Given the description of an element on the screen output the (x, y) to click on. 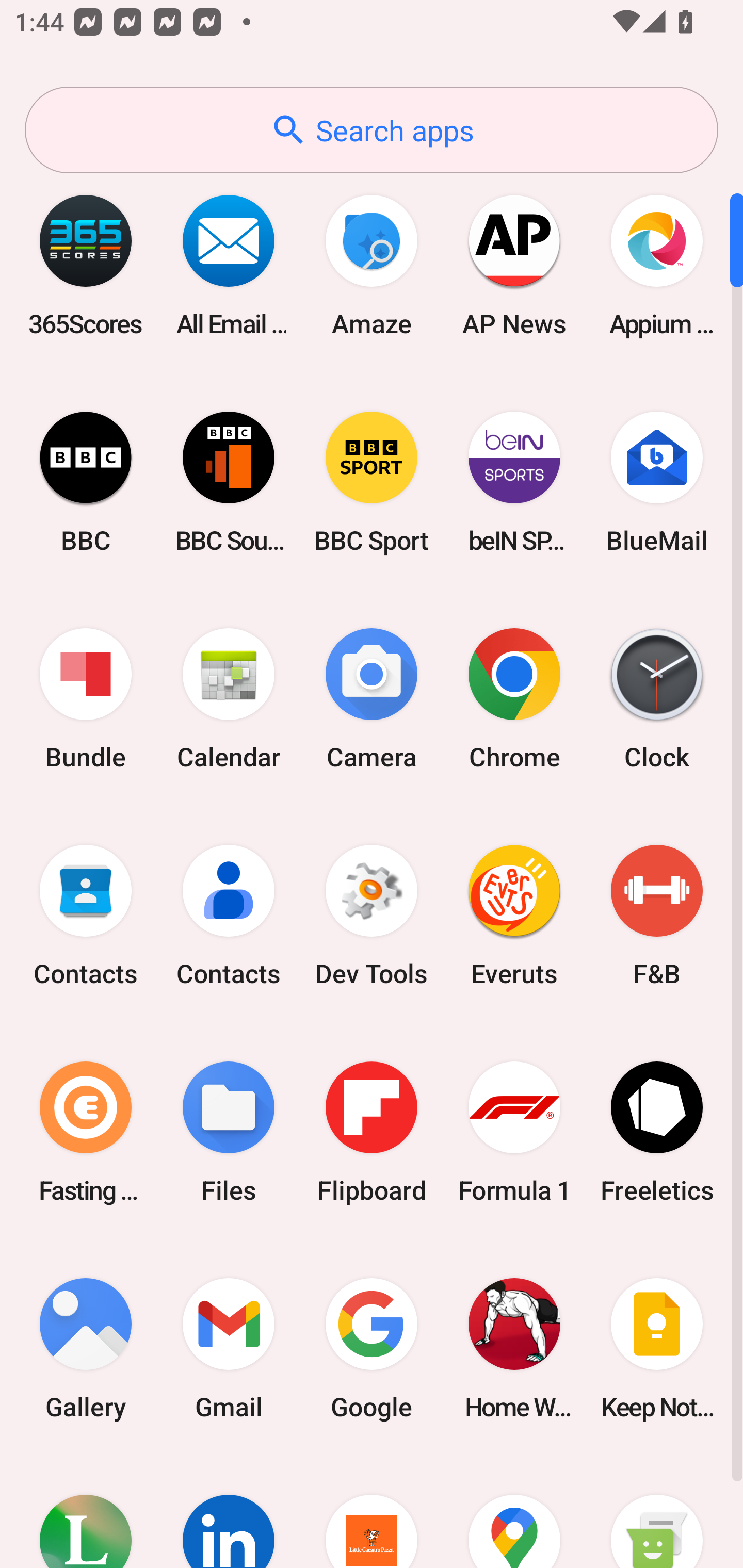
  Search apps (371, 130)
365Scores (85, 264)
All Email Connect (228, 264)
Amaze (371, 264)
AP News (514, 264)
Appium Settings (656, 264)
BBC (85, 482)
BBC Sounds (228, 482)
BBC Sport (371, 482)
beIN SPORTS (514, 482)
BlueMail (656, 482)
Bundle (85, 699)
Calendar (228, 699)
Camera (371, 699)
Chrome (514, 699)
Clock (656, 699)
Contacts (85, 915)
Contacts (228, 915)
Dev Tools (371, 915)
Everuts (514, 915)
F&B (656, 915)
Fasting Coach (85, 1131)
Files (228, 1131)
Flipboard (371, 1131)
Formula 1 (514, 1131)
Freeletics (656, 1131)
Gallery (85, 1348)
Gmail (228, 1348)
Google (371, 1348)
Home Workout (514, 1348)
Keep Notes (656, 1348)
Lifesum (85, 1512)
LinkedIn (228, 1512)
Little Caesars Pizza (371, 1512)
Maps (514, 1512)
Messaging (656, 1512)
